Given the description of an element on the screen output the (x, y) to click on. 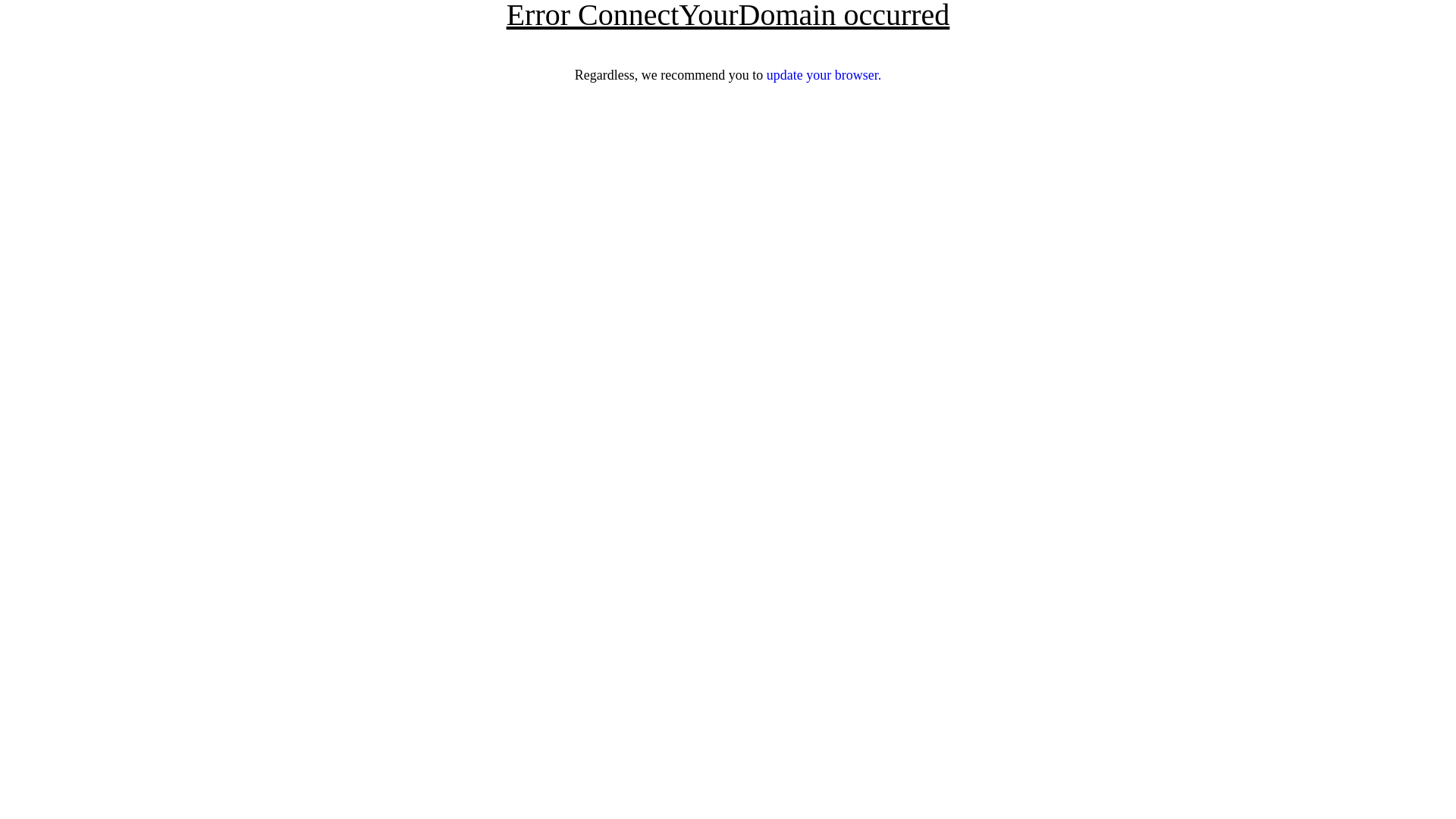
update your browser. Element type: text (823, 74)
